Given the description of an element on the screen output the (x, y) to click on. 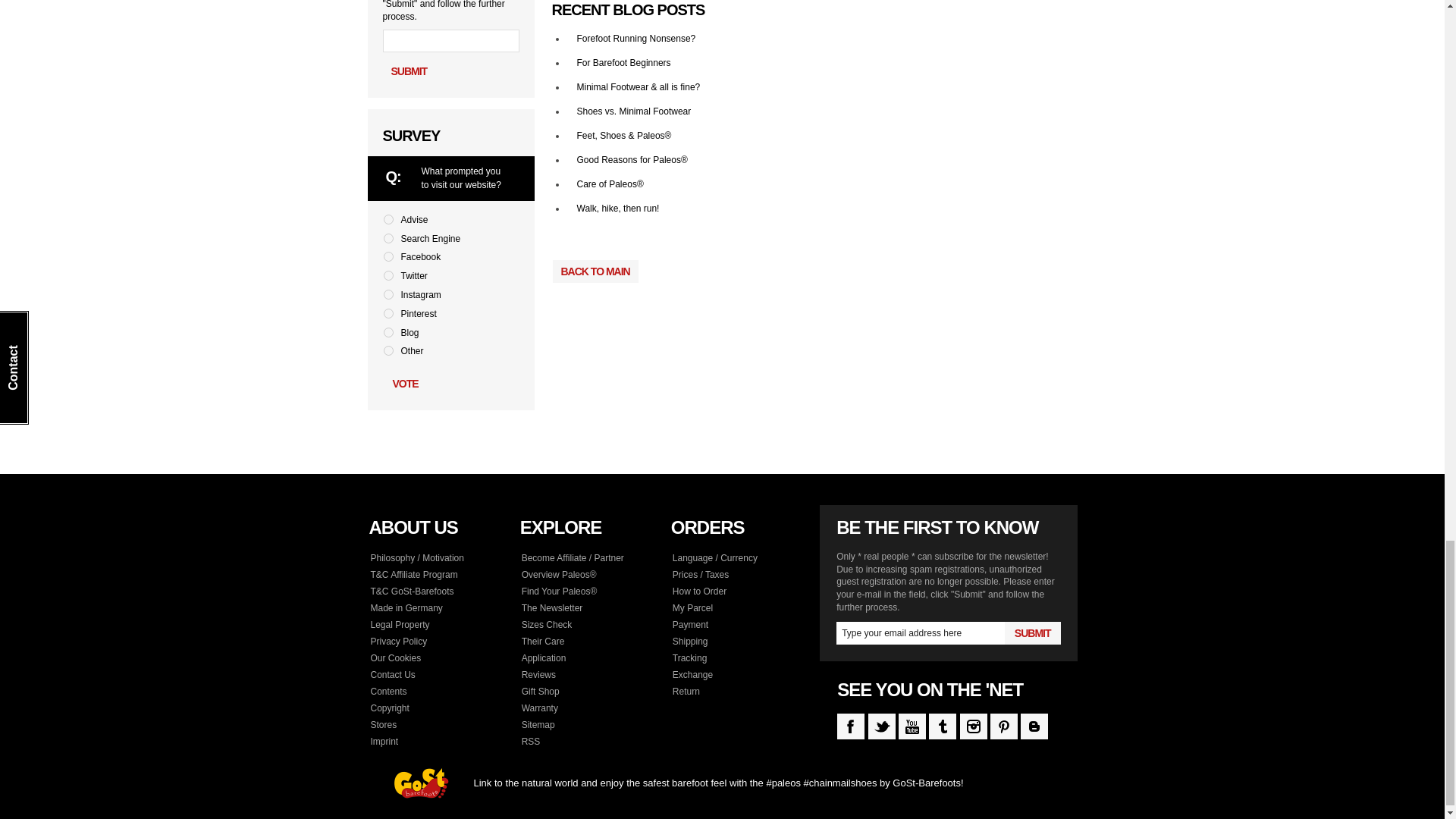
Type your email address here (919, 632)
24 (388, 238)
26 (388, 275)
28 (388, 313)
30 (388, 350)
29 (388, 332)
27 (388, 294)
23 (388, 219)
25 (388, 256)
